Given the description of an element on the screen output the (x, y) to click on. 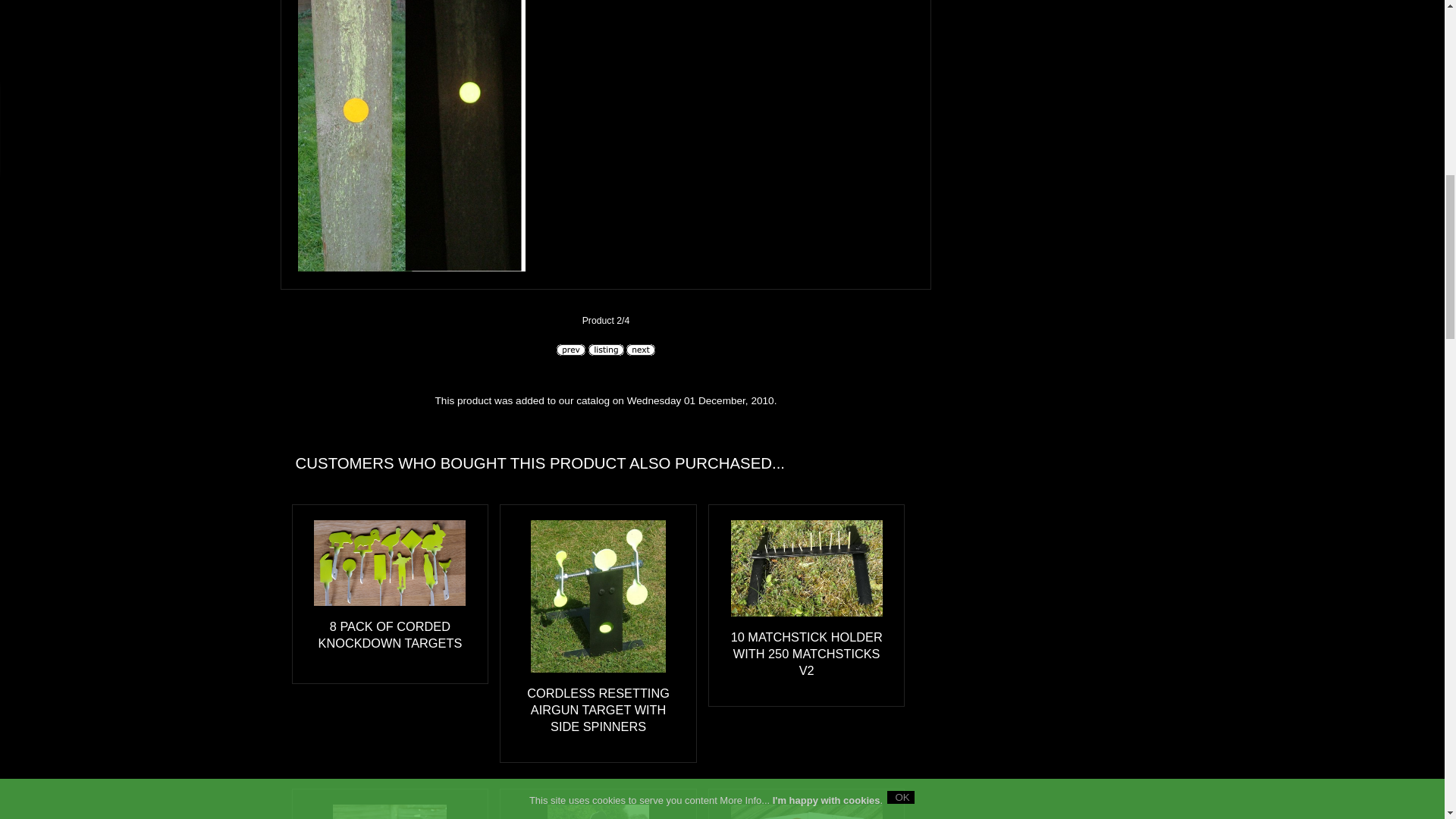
 Prev  (570, 349)
 Cordless Resetting Airgun Target with Side Spinners  (598, 595)
 Next  (640, 349)
 8 pack of corded knockdown targets  (389, 563)
 6mm Cordless Resetting Airgun Target with Side Spinners  (389, 811)
 All  (606, 349)
 10 Matchstick Holder with 250 matchsticks V2  (806, 567)
 Pellet Drop-Zeroing Card Target - starter pack  (806, 811)
 Bunny Kill Zone Resetting Airgun Target  (598, 811)
